Given the description of an element on the screen output the (x, y) to click on. 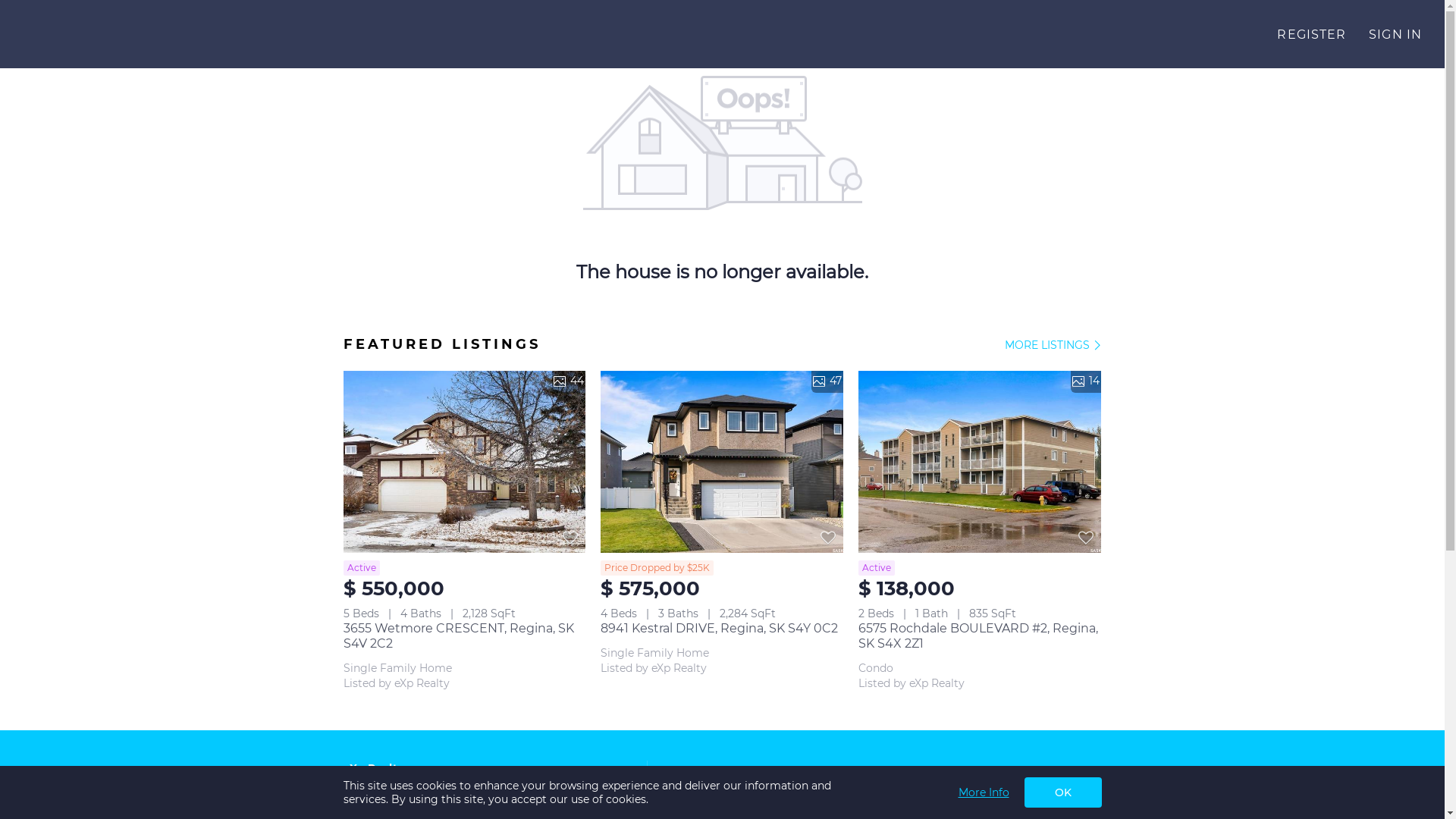
47 Element type: text (721, 461)
MORE LISTINGS Element type: text (1052, 345)
3655 Wetmore CRESCENT, Regina, SK S4V 2C2 Element type: text (457, 635)
8941 Kestral DRIVE, Regina, SK S4Y 0C2 Element type: text (718, 628)
More Info Element type: text (983, 792)
6575 Rochdale BOULEVARD #2, Regina, SK S4X 2Z1 Element type: text (978, 635)
14 Element type: text (979, 461)
44 Element type: text (463, 461)
